Given the description of an element on the screen output the (x, y) to click on. 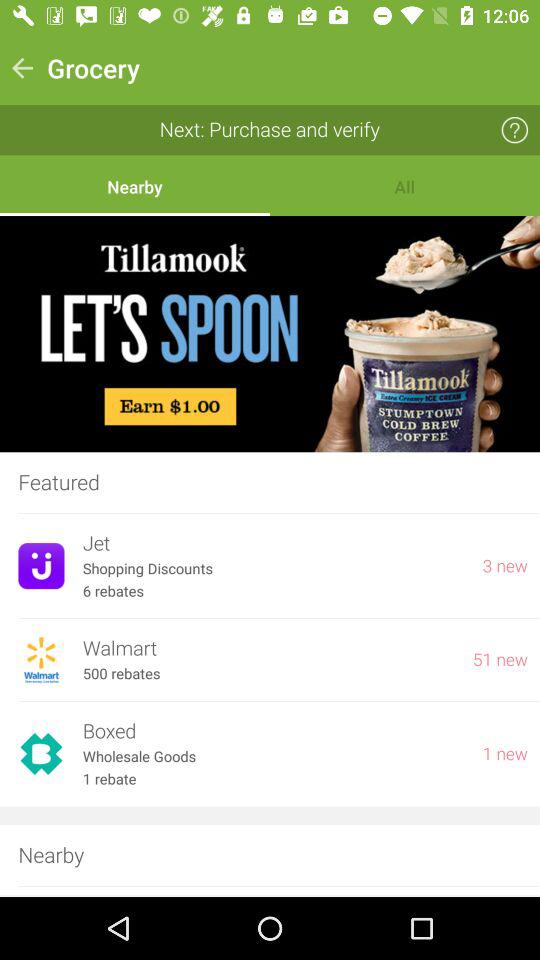
scroll until the wholesale goods (273, 756)
